Given the description of an element on the screen output the (x, y) to click on. 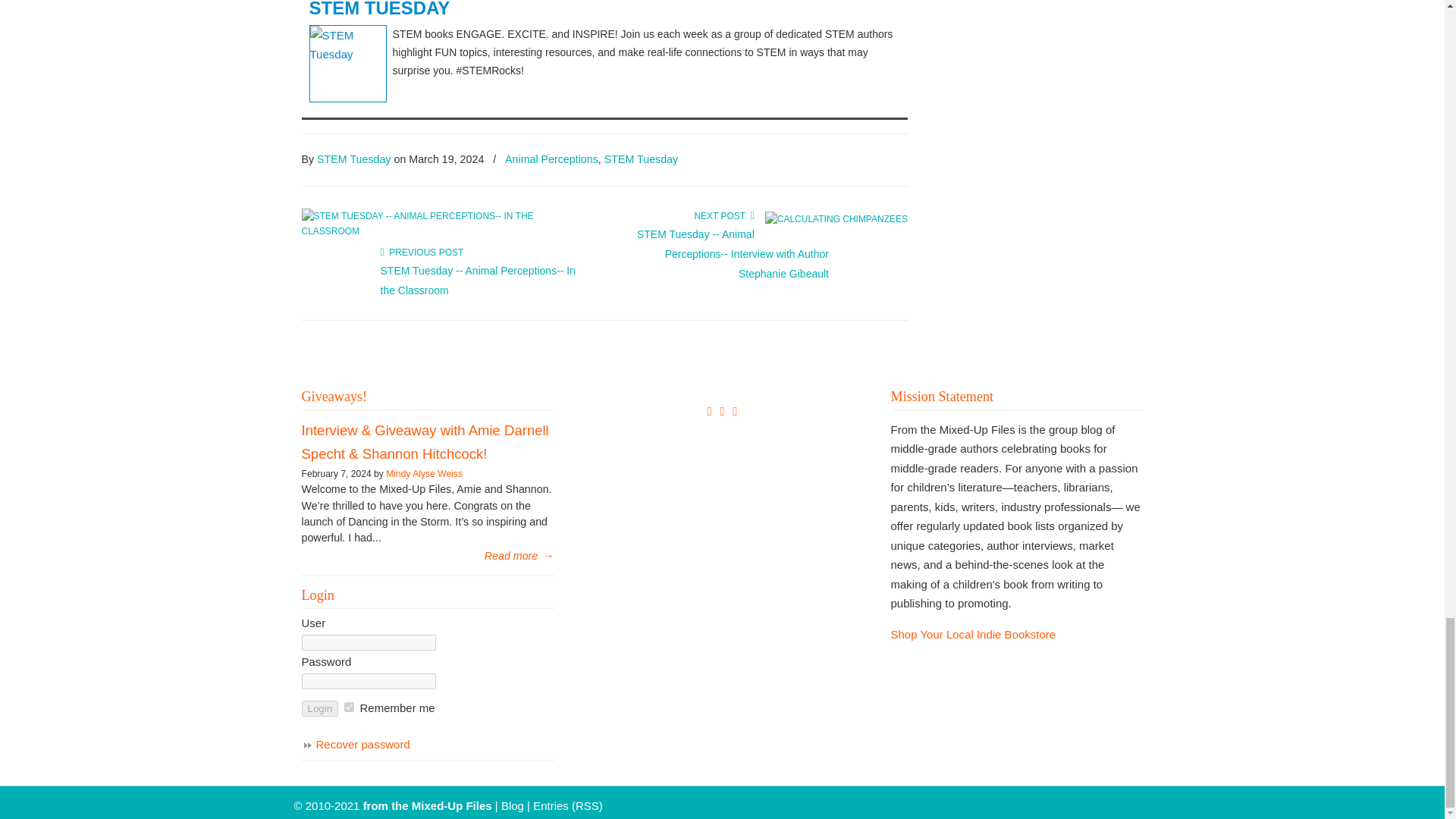
Login (320, 708)
STEM Tuesday (378, 9)
Posts by STEM Tuesday (353, 158)
forever (348, 706)
